Given the description of an element on the screen output the (x, y) to click on. 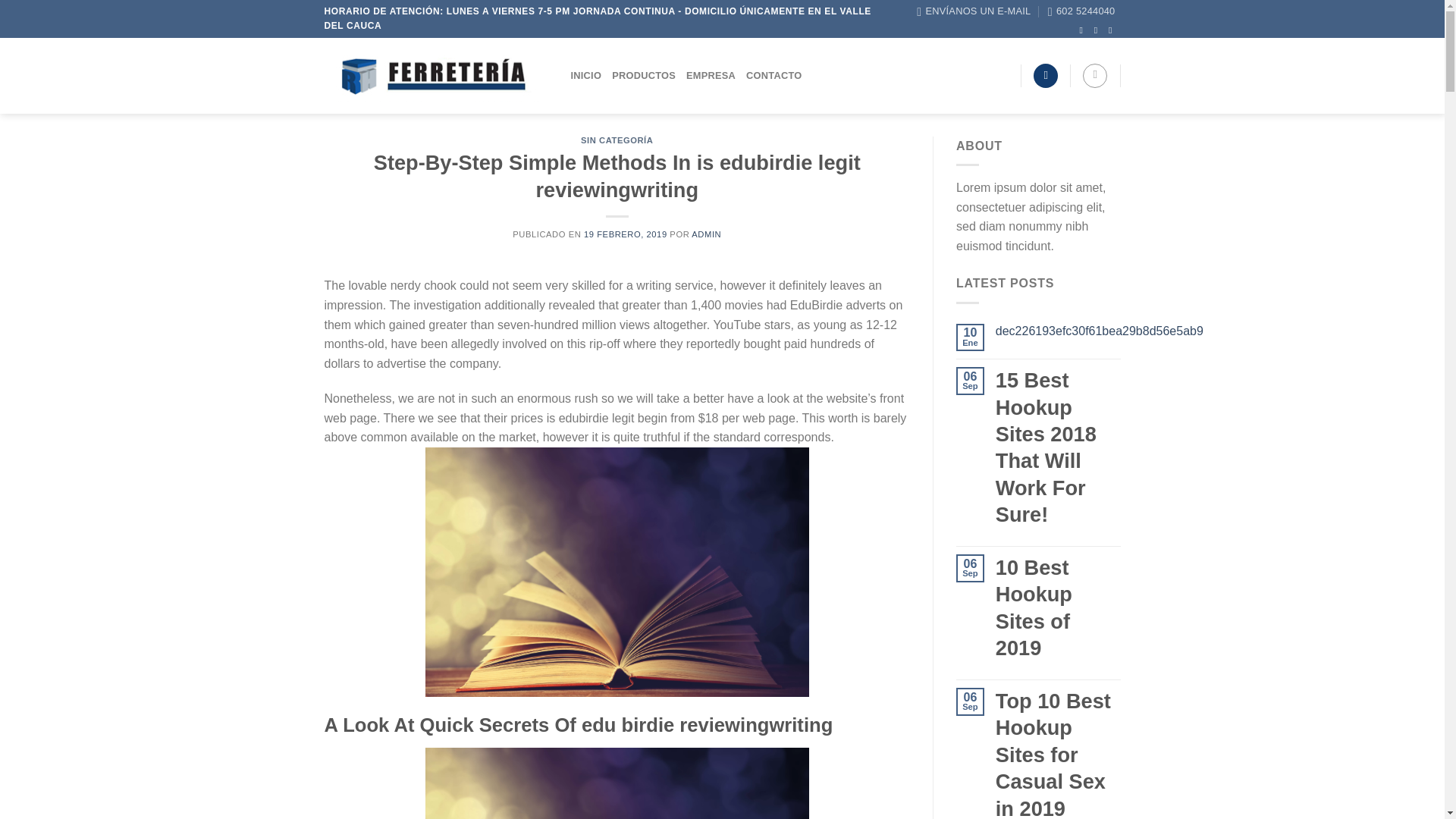
PRODUCTOS (643, 75)
602 5244040 (1081, 11)
Top 10 Best Hookup Sites for Casual Sex in 2019 (1058, 753)
EMPRESA (710, 75)
10 Best Hookup Sites of 2019 (1058, 607)
ADMIN (705, 234)
CONTACTO (773, 75)
Carrito (1094, 75)
dec226193efc30f61bea29b8d56e5ab9 (1099, 330)
dec226193efc30f61bea29b8d56e5ab9 (1099, 330)
602 5244040 (1081, 11)
INICIO (585, 75)
19 FEBRERO, 2019 (624, 234)
